Given the description of an element on the screen output the (x, y) to click on. 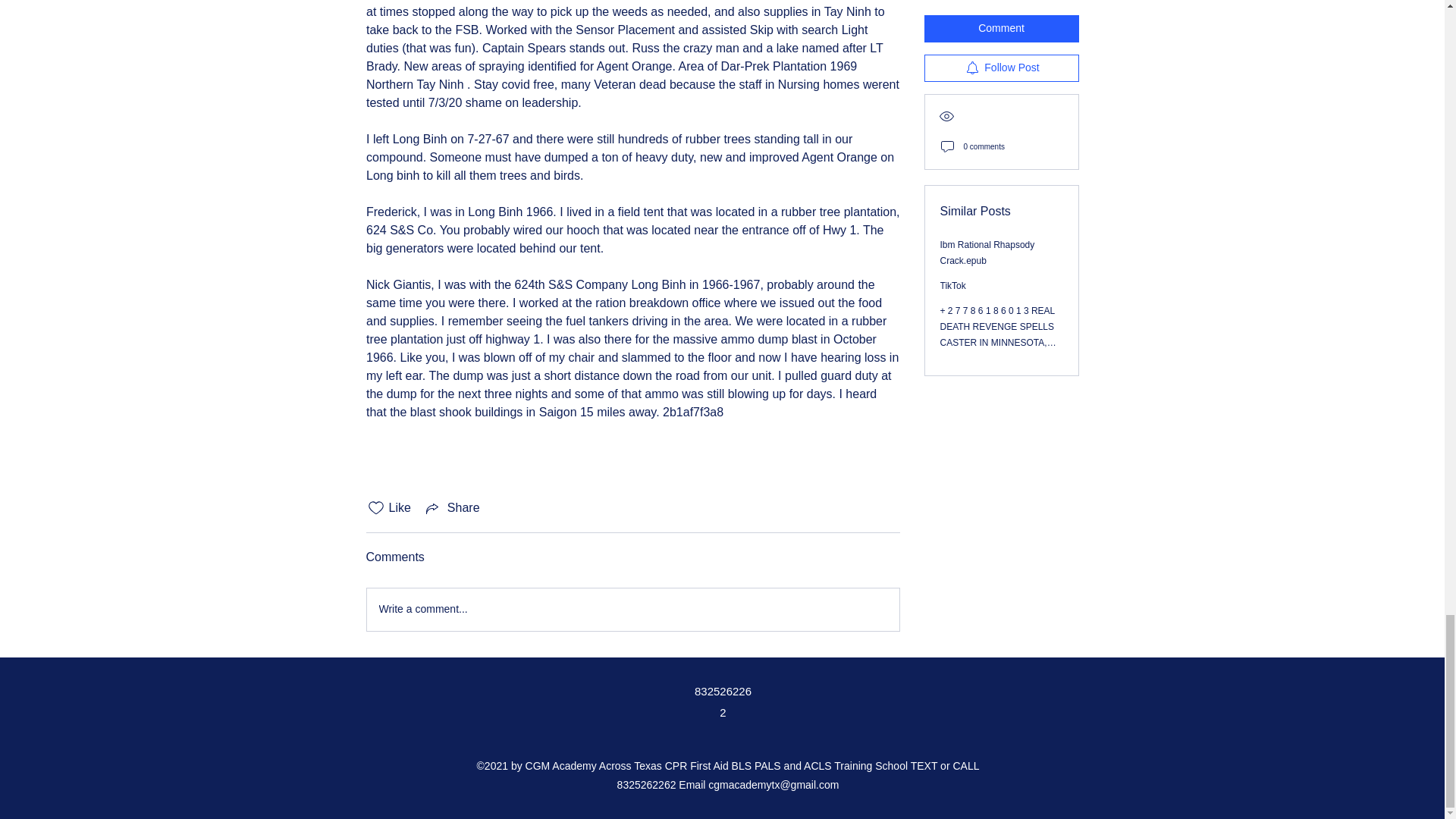
Write a comment... (632, 609)
Share (451, 507)
